Given the description of an element on the screen output the (x, y) to click on. 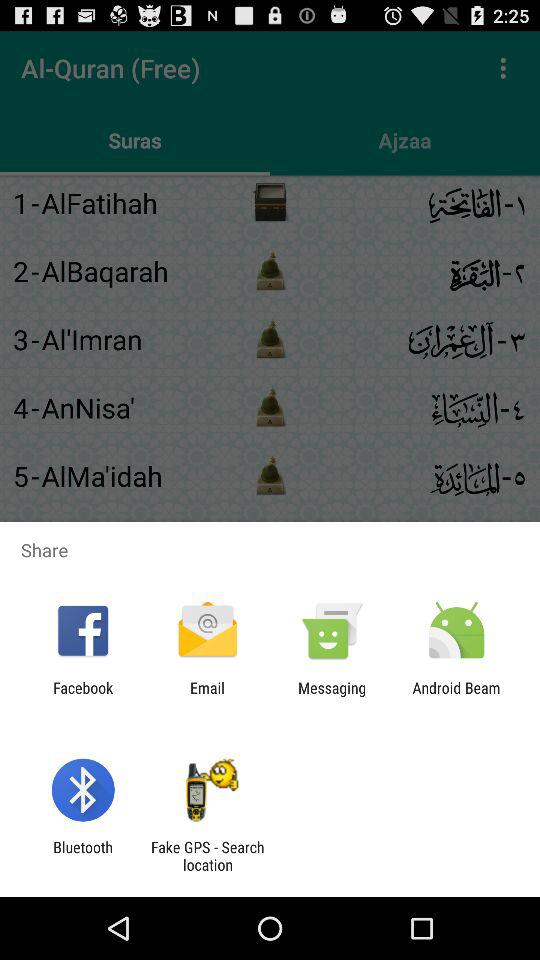
select app to the right of the email item (332, 696)
